Given the description of an element on the screen output the (x, y) to click on. 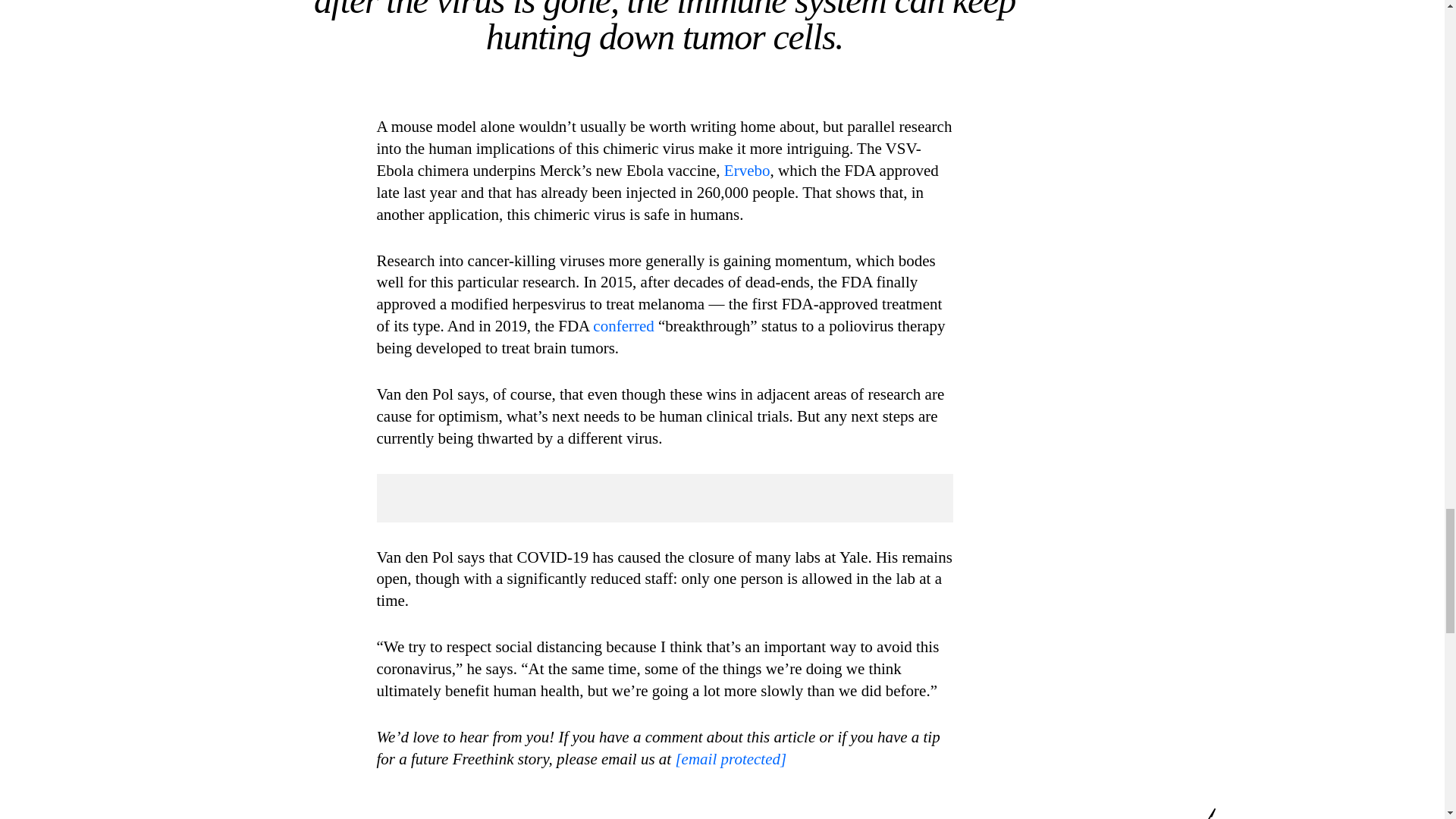
Ervebo (746, 170)
conferred (622, 325)
